Given the description of an element on the screen output the (x, y) to click on. 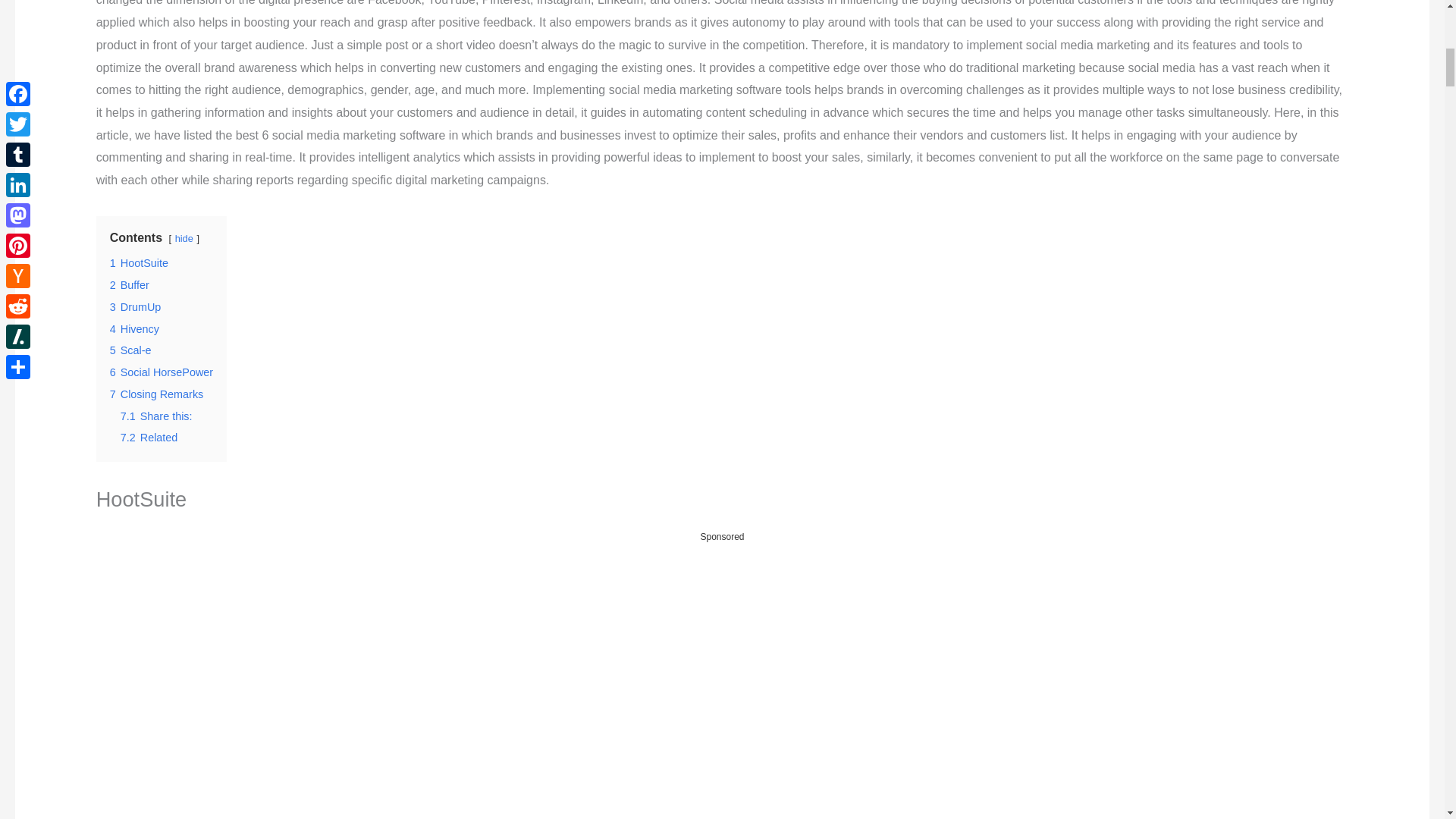
7.2 Related (148, 437)
hide (183, 238)
5 Scal-e (130, 349)
3 DrumUp (135, 306)
4 Hivency (134, 328)
1 HootSuite (139, 263)
6 Social HorsePower (161, 372)
7 Closing Remarks (156, 394)
2 Buffer (129, 285)
